Given the description of an element on the screen output the (x, y) to click on. 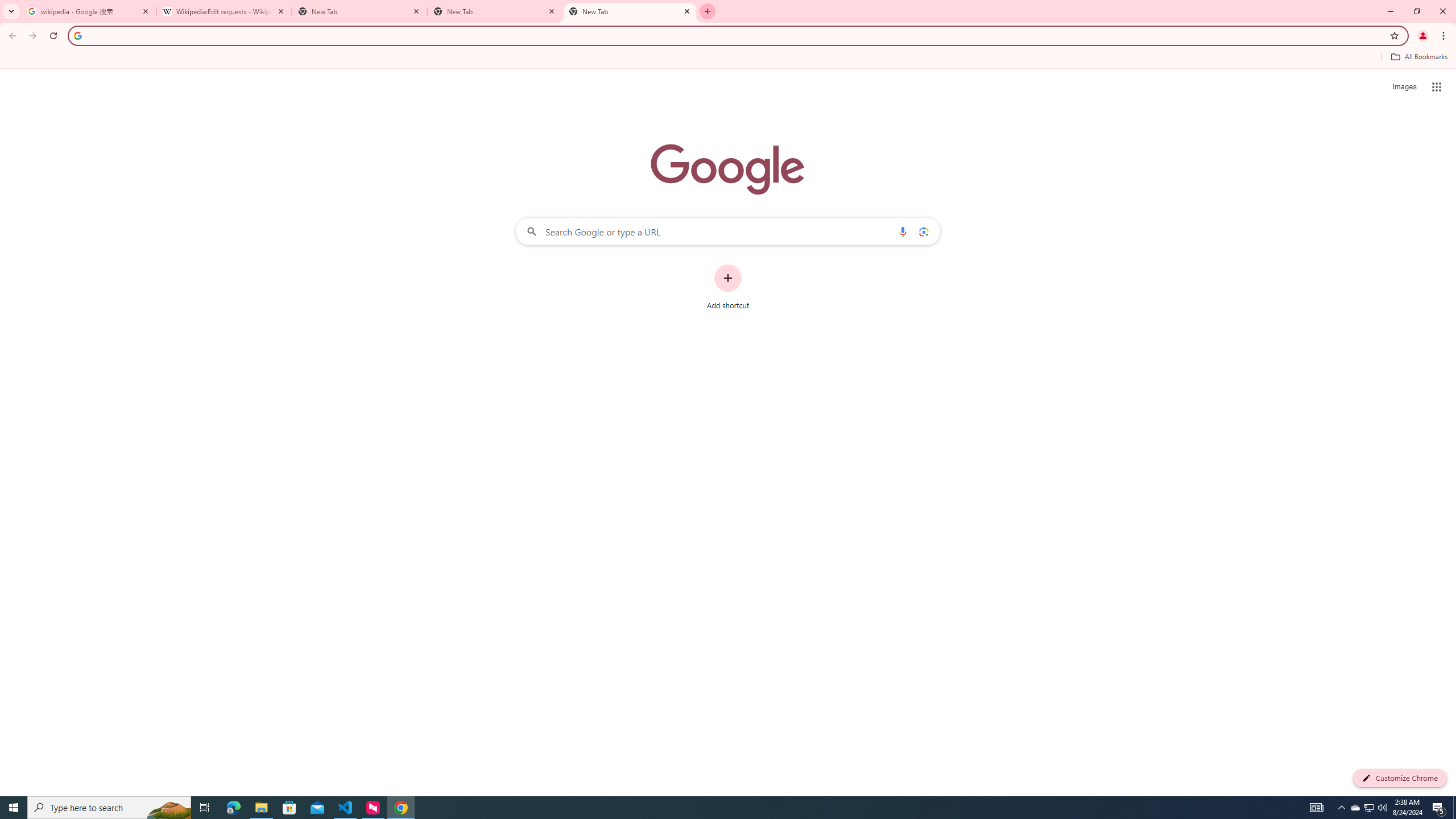
New Tab (359, 11)
